Given the description of an element on the screen output the (x, y) to click on. 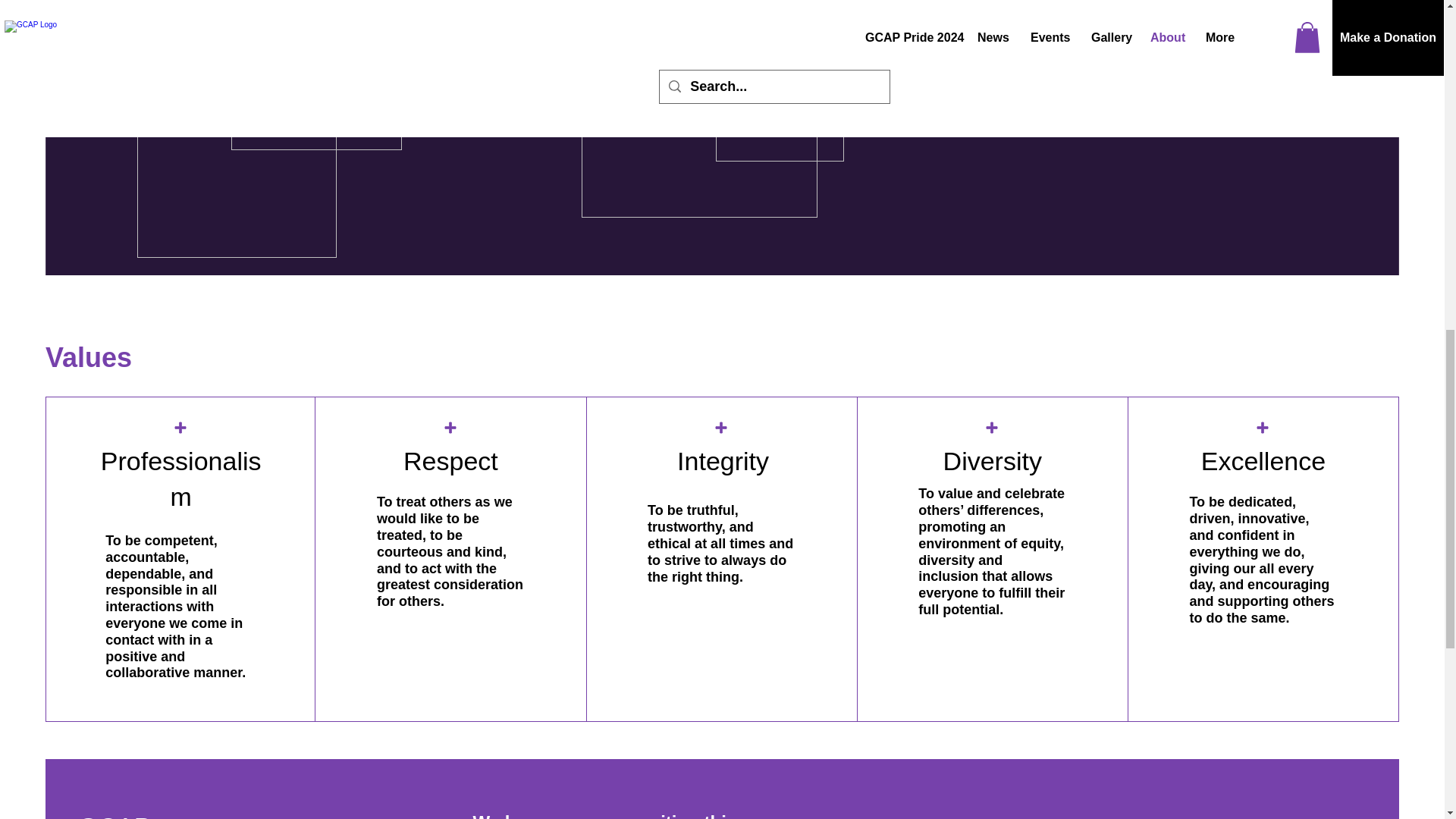
About (1162, 818)
GCAP (114, 815)
